Given the description of an element on the screen output the (x, y) to click on. 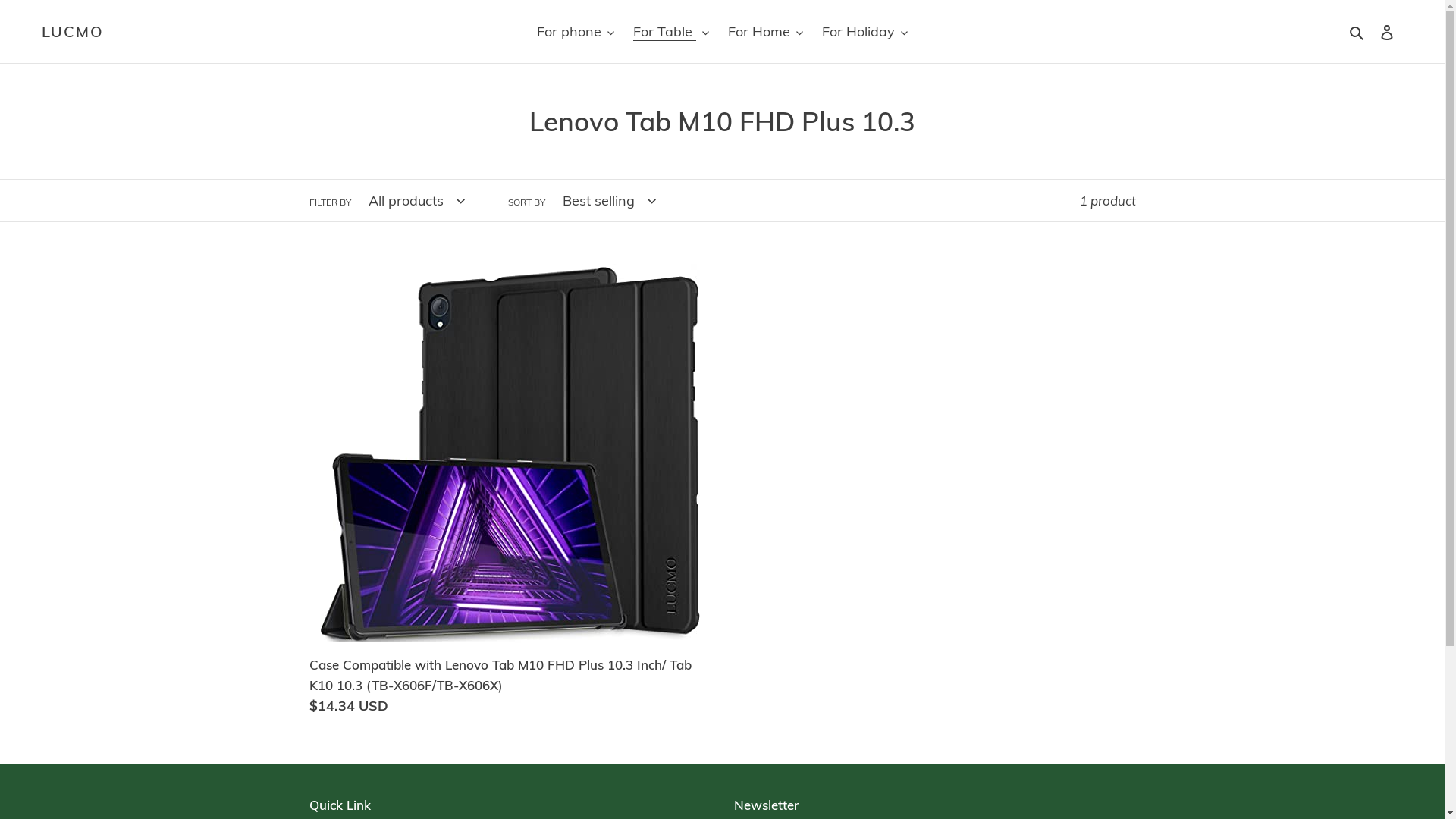
For Home Element type: text (765, 30)
LUCMO Element type: text (72, 31)
For Table Element type: text (670, 30)
Log in Element type: text (1386, 31)
For phone Element type: text (575, 30)
For Holiday Element type: text (864, 30)
Search Element type: text (1357, 31)
